Given the description of an element on the screen output the (x, y) to click on. 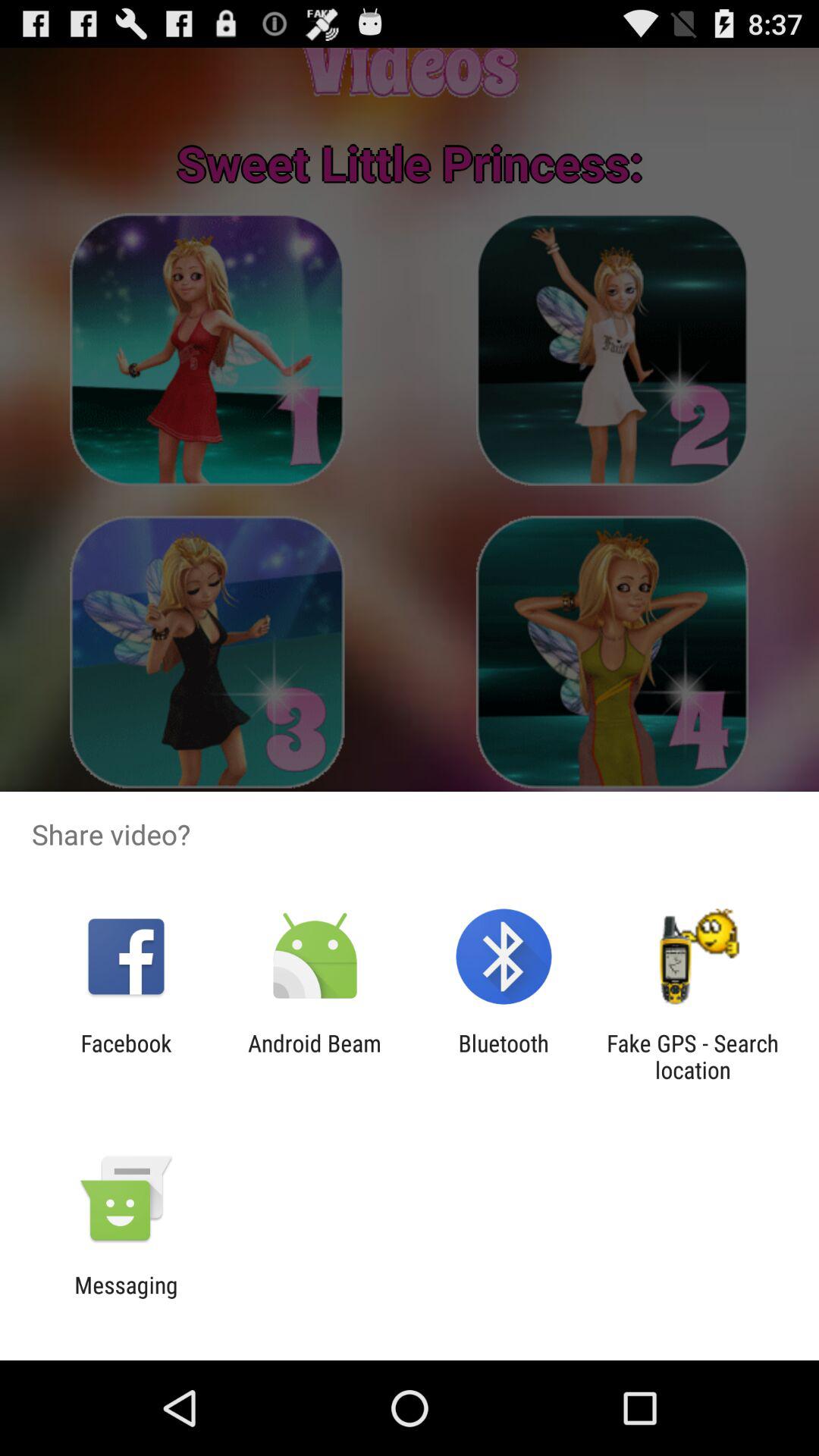
press the icon next to the facebook item (314, 1056)
